Given the description of an element on the screen output the (x, y) to click on. 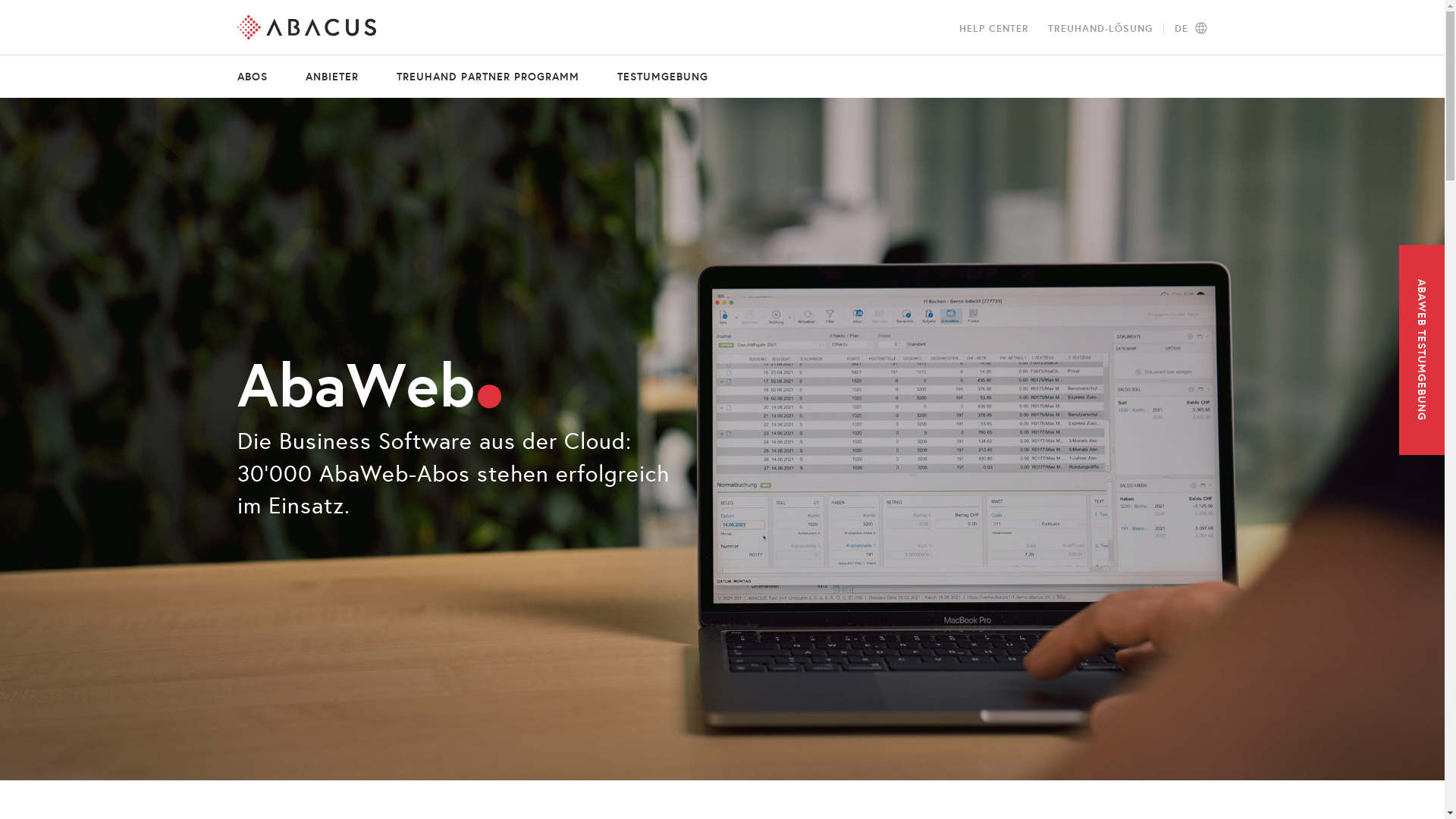
ANBIETER Element type: text (331, 76)
ABOS Element type: text (260, 76)
HELP CENTER Element type: text (993, 28)
TREUHAND PARTNER PROGRAMM Element type: text (487, 76)
TESTUMGEBUNG Element type: text (652, 76)
